Given the description of an element on the screen output the (x, y) to click on. 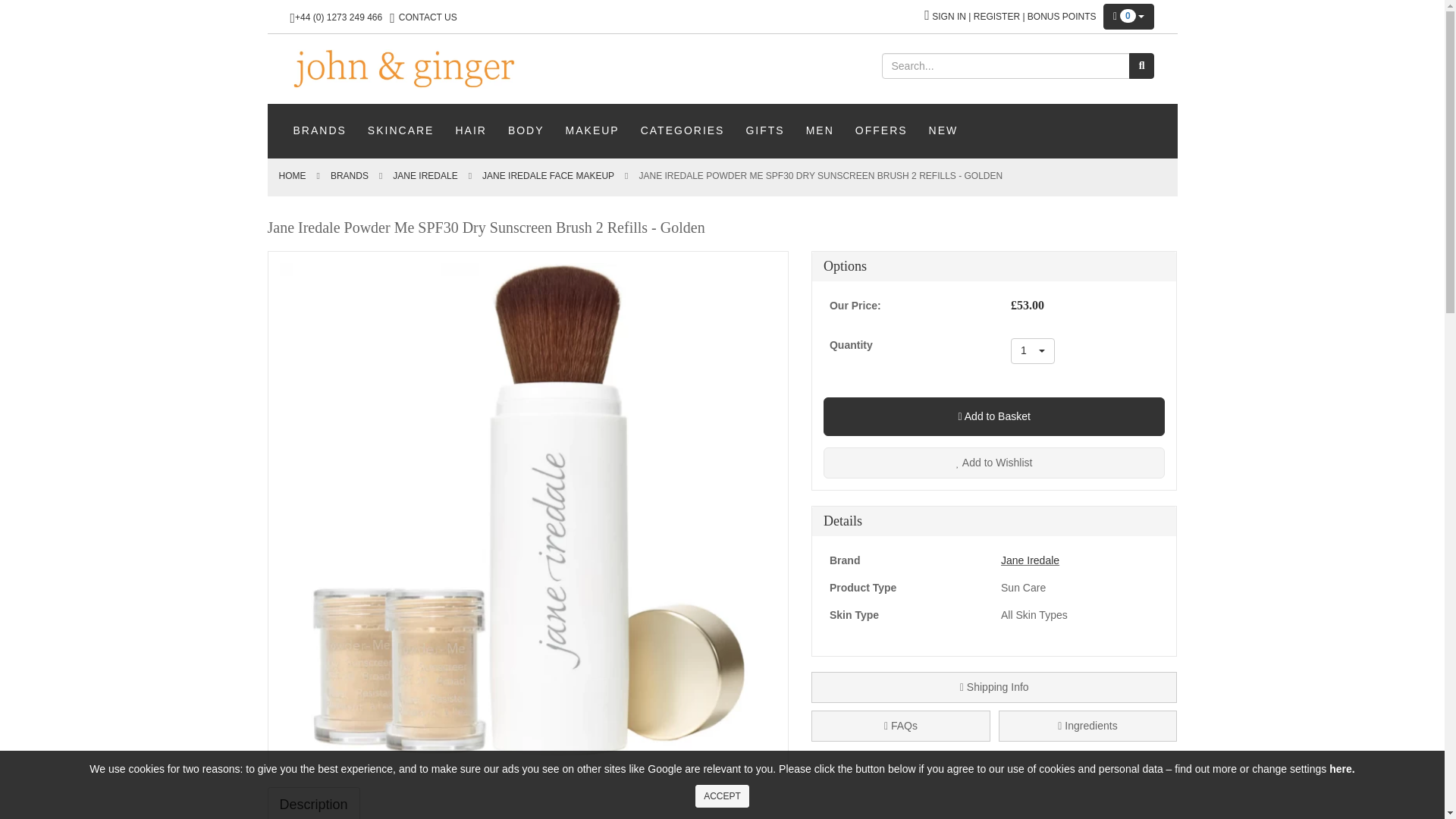
SIGN IN (948, 16)
ACCEPT (722, 795)
HOME (292, 175)
Jane Iredale (425, 175)
MAKEUP (592, 130)
Accept (722, 795)
Jane Iredale Face Makeup (547, 175)
SKINCARE (400, 130)
here. (1341, 768)
